Given the description of an element on the screen output the (x, y) to click on. 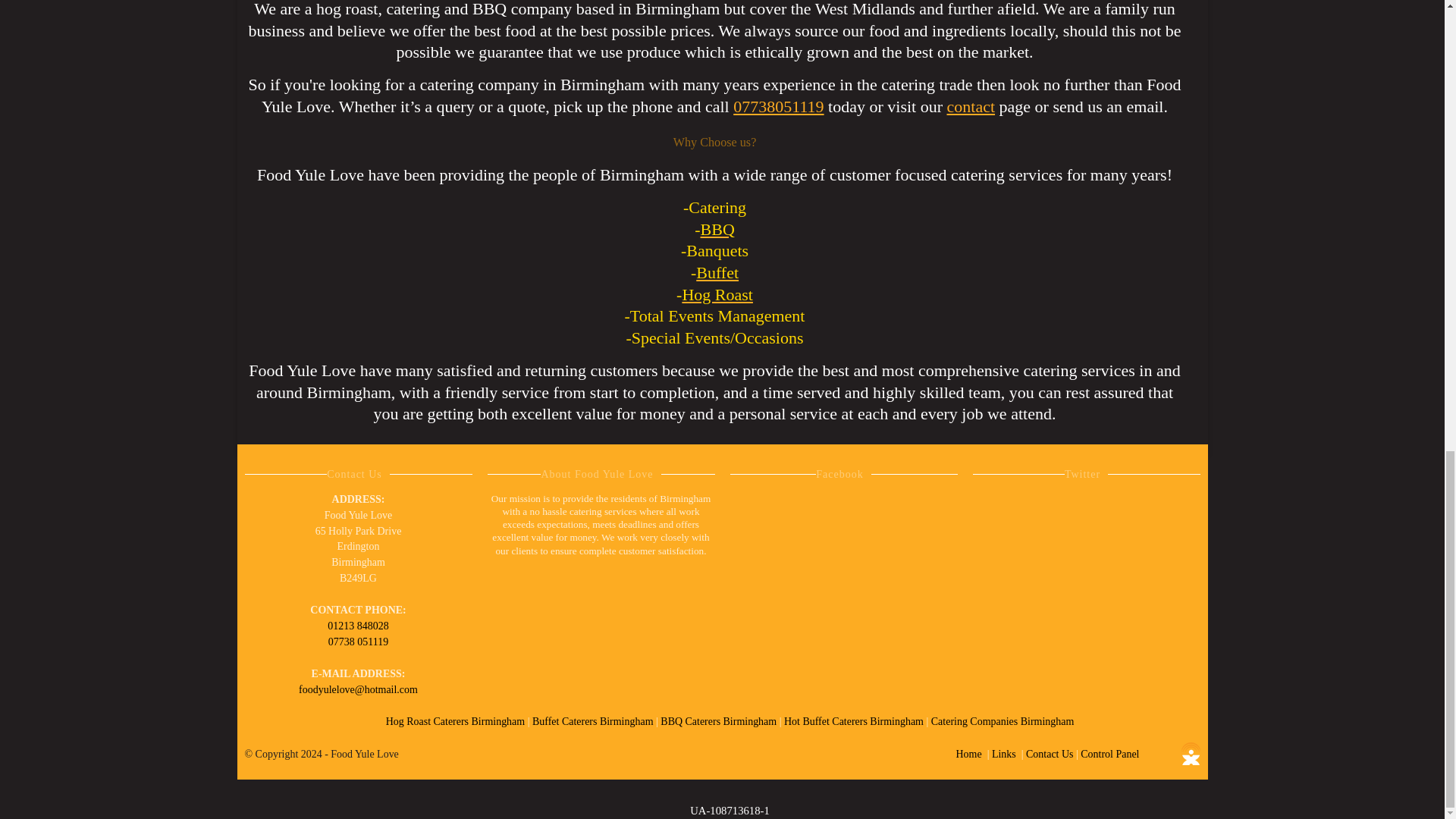
Hog Roast (716, 294)
Home (968, 754)
Buffet (716, 271)
Control Panel (1109, 754)
Contact Us (1049, 754)
Hog Roast Caterers Birmingham (456, 721)
BBQ (717, 229)
Links (1003, 754)
07738051119 (778, 106)
Hot Buffet Caterers Birmingham (855, 721)
BBQ Caterers Birmingham (719, 721)
Buffet Caterers Birmingham (594, 721)
07738 051119 (358, 641)
contact (971, 106)
Catering Companies Birmingham (1002, 721)
